Given the description of an element on the screen output the (x, y) to click on. 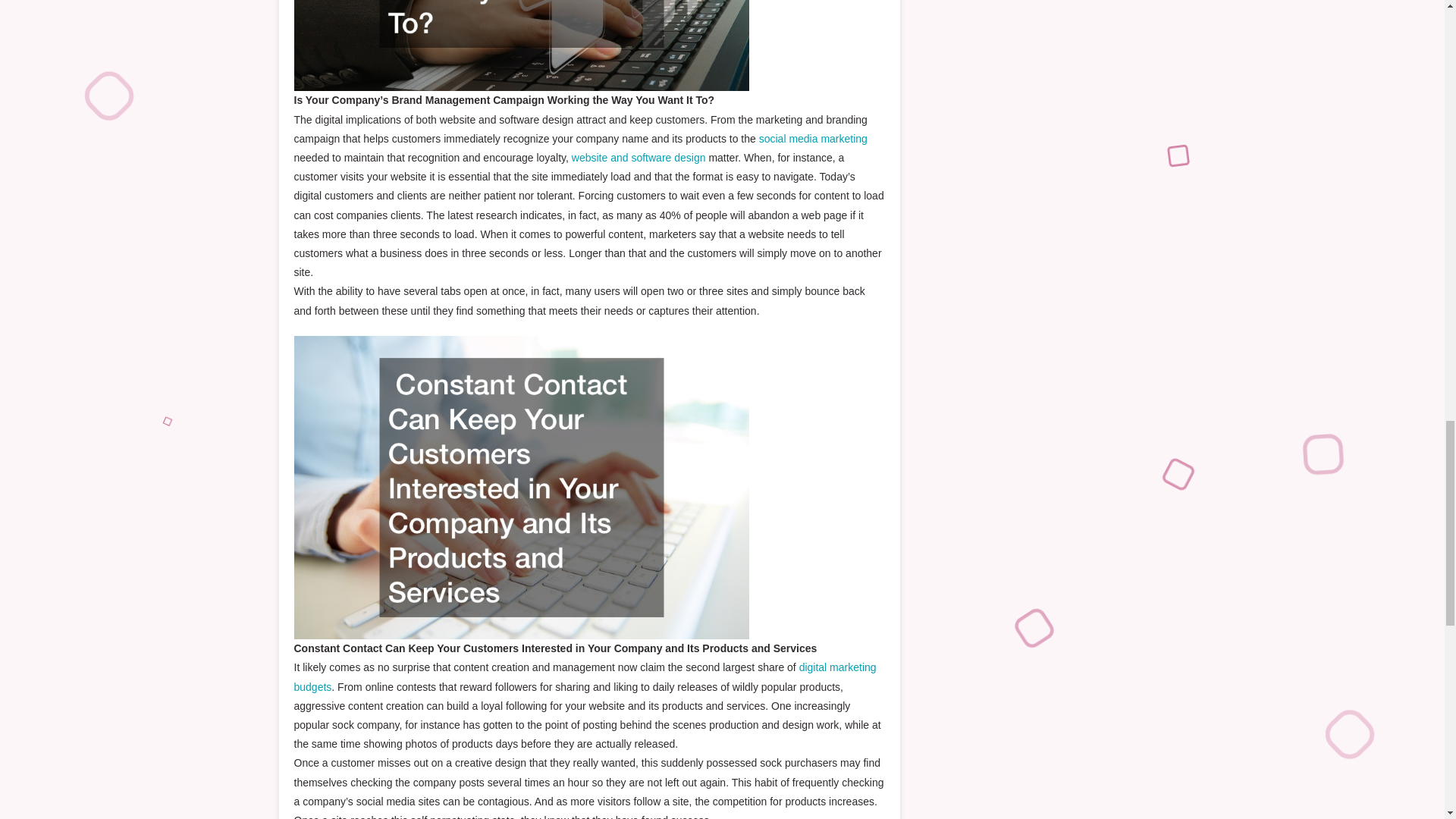
Learn some more (639, 157)
website and software design (639, 157)
For more on Software development (585, 676)
social media marketing (812, 138)
digital marketing budgets (585, 676)
Go here (812, 138)
